Given the description of an element on the screen output the (x, y) to click on. 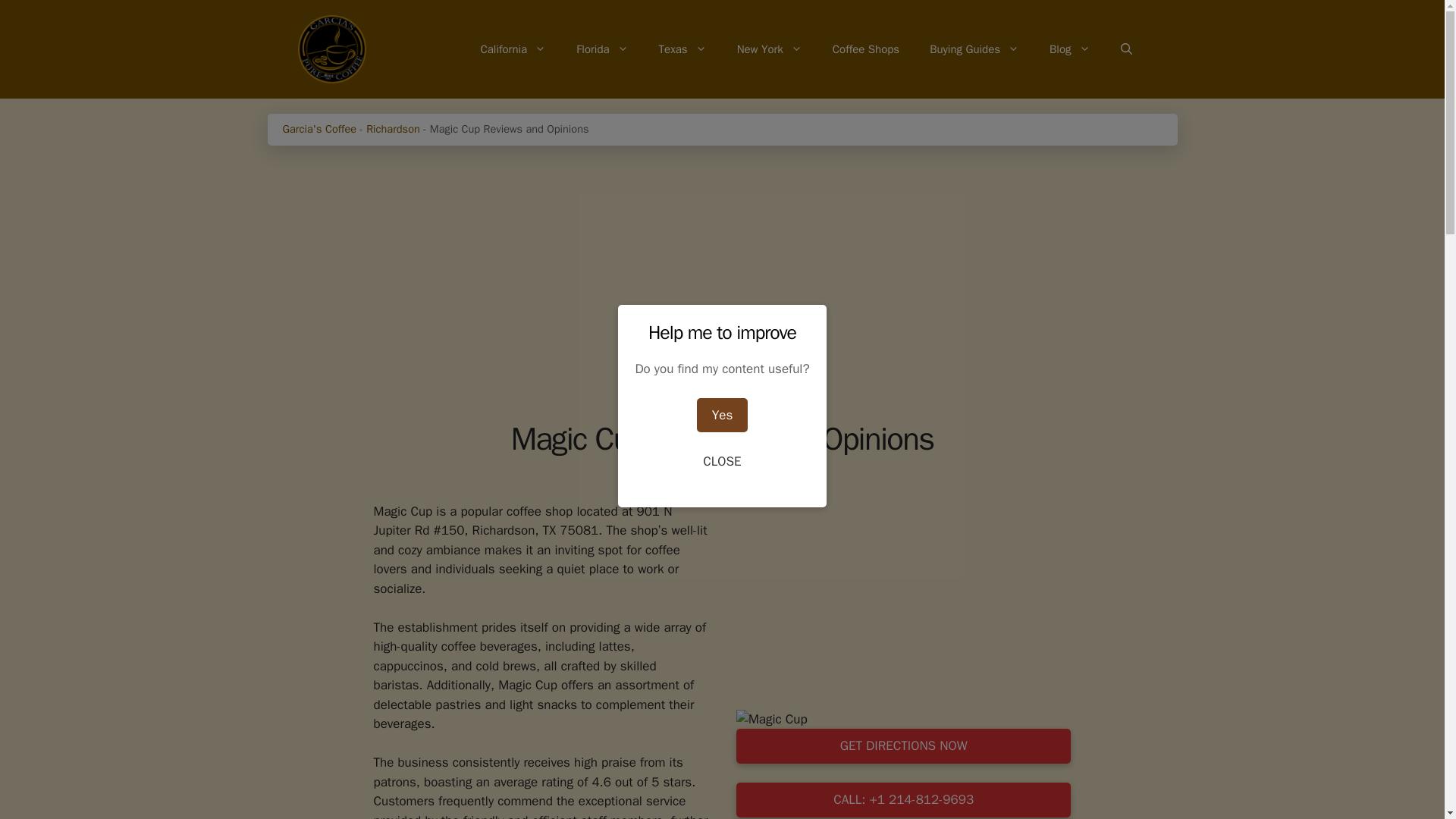
Texas (682, 49)
Magic Cup (772, 719)
Florida (601, 49)
Buying Guides (973, 49)
New York (769, 49)
Blog (1069, 49)
California (512, 49)
Coffee Shops (865, 49)
